Given the description of an element on the screen output the (x, y) to click on. 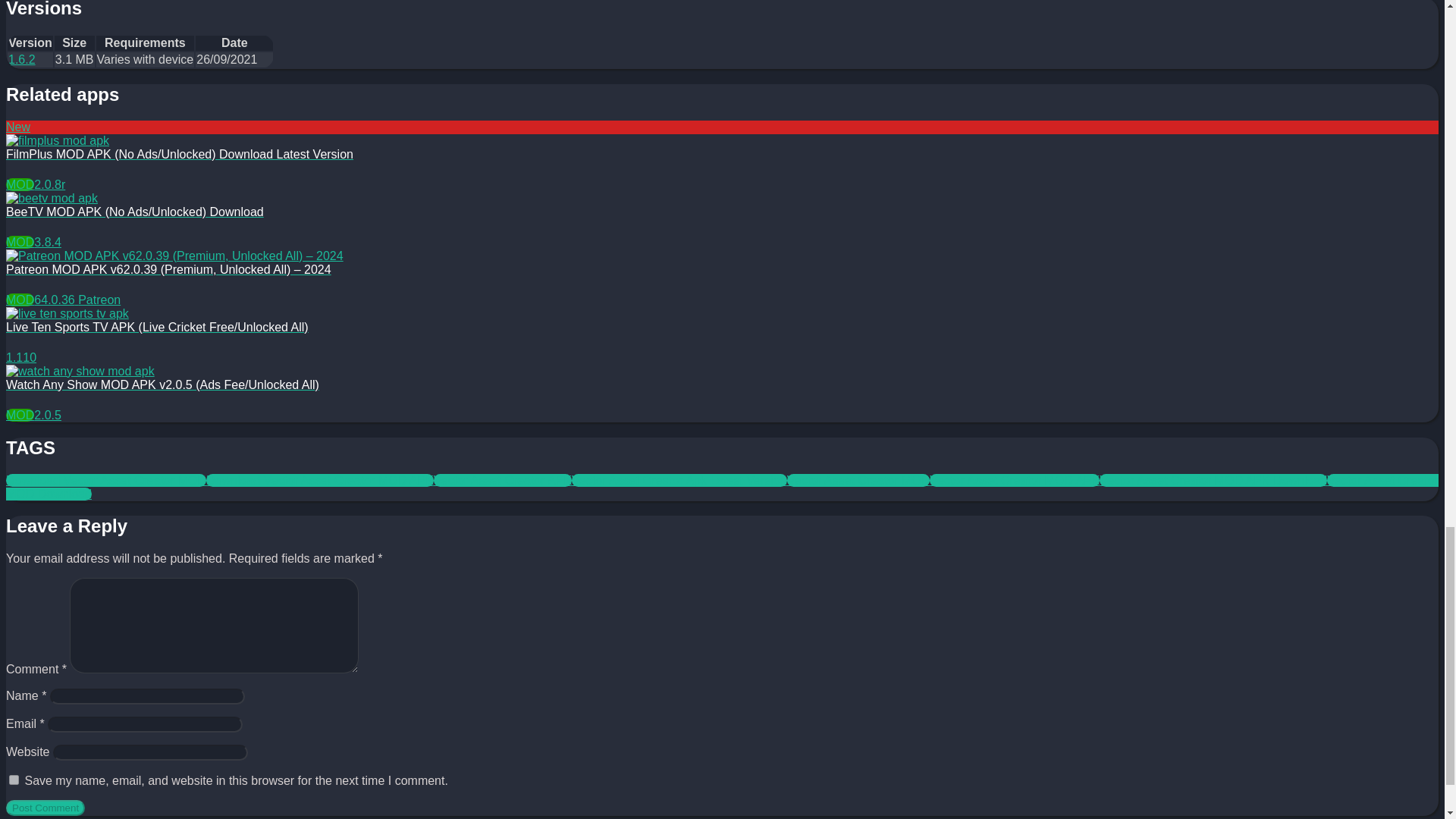
Post Comment (44, 807)
yes (13, 779)
